Given the description of an element on the screen output the (x, y) to click on. 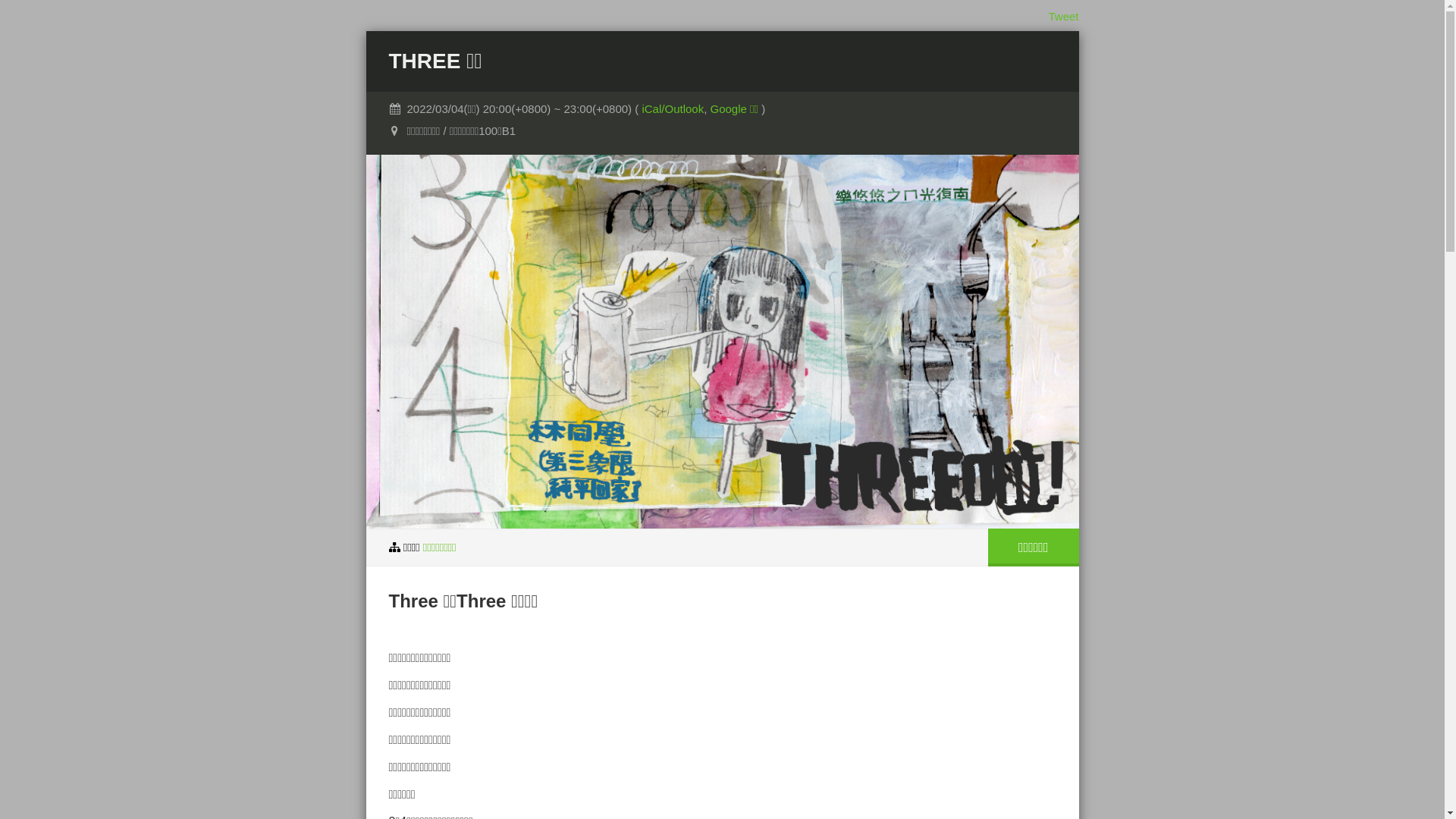
iCal/Outlook Element type: text (672, 108)
Tweet Element type: text (1063, 15)
